Given the description of an element on the screen output the (x, y) to click on. 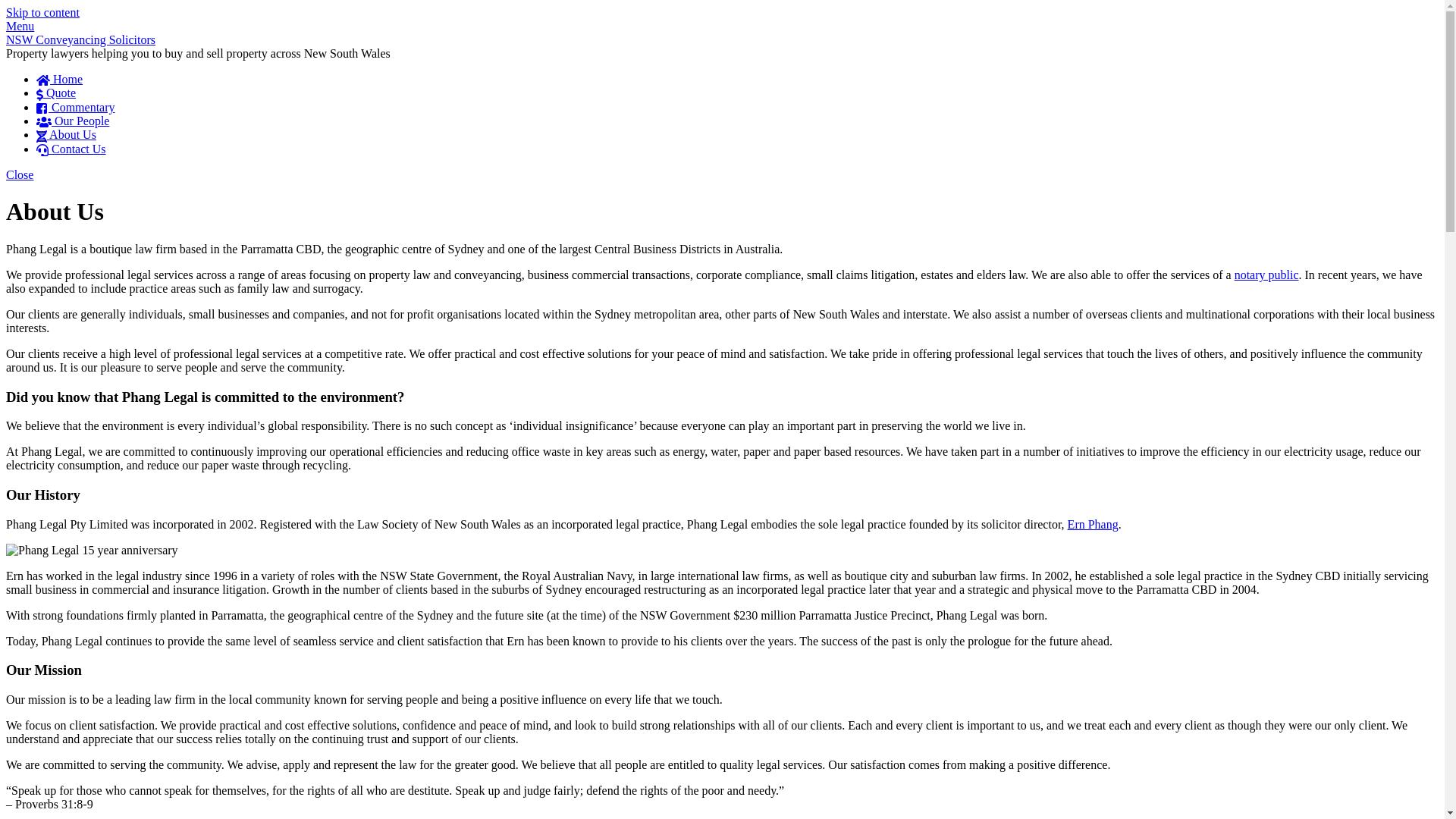
notary public Element type: text (1266, 274)
Skip to content Element type: text (42, 12)
Quote Element type: text (55, 92)
Menu Element type: text (20, 25)
NSW Conveyancing Solicitors Element type: text (80, 39)
Ern Phang Element type: text (1092, 523)
About Us Element type: text (66, 134)
Commentary Element type: text (75, 106)
Contact Us Element type: text (71, 148)
Close Element type: text (19, 174)
Home Element type: text (59, 78)
Our People Element type: text (72, 120)
